Given the description of an element on the screen output the (x, y) to click on. 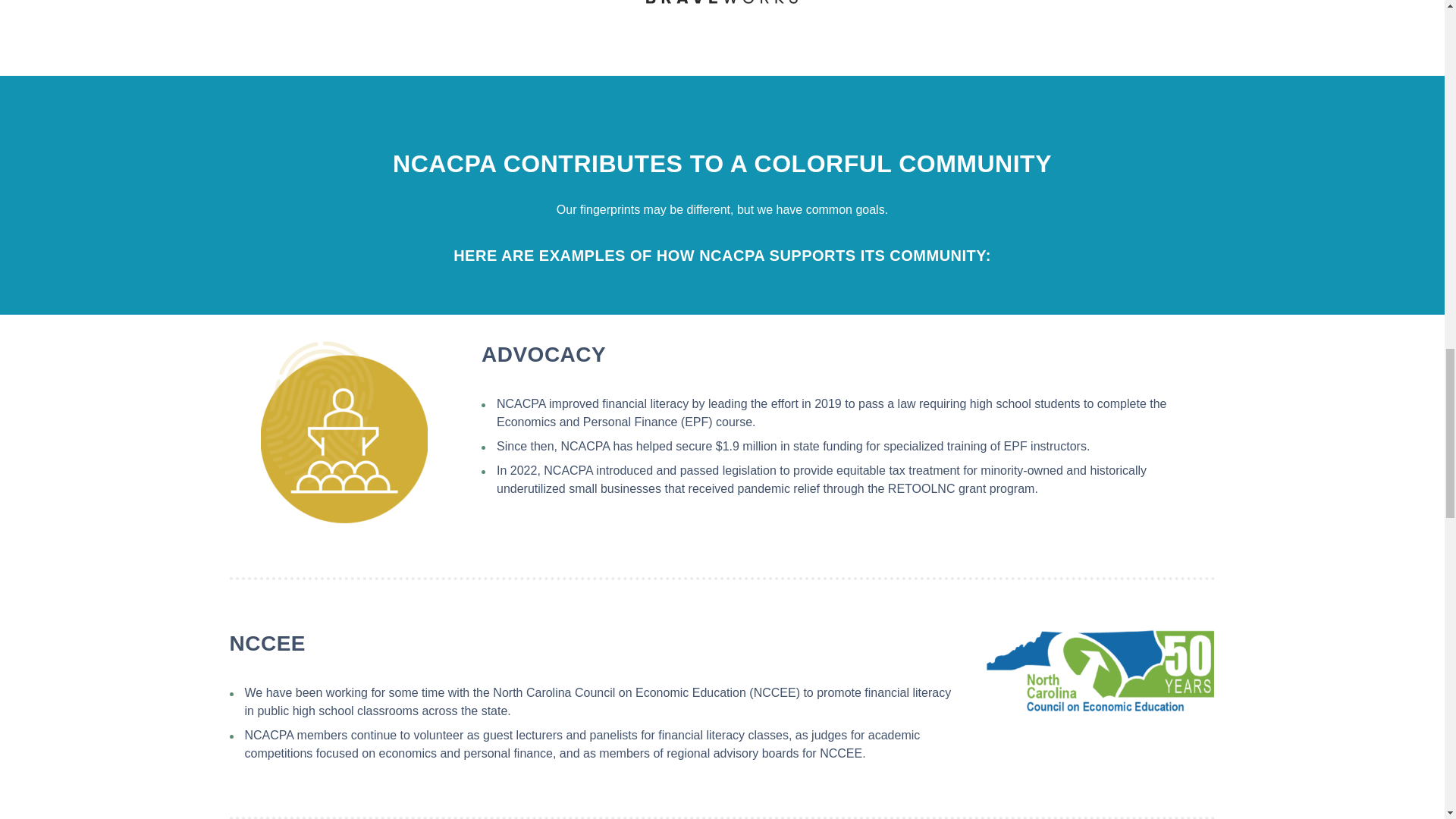
DEI-NCEE-logo (1100, 671)
braveworks-200x190 (721, 2)
DEI-advocacy-podium speaker (344, 432)
